Given the description of an element on the screen output the (x, y) to click on. 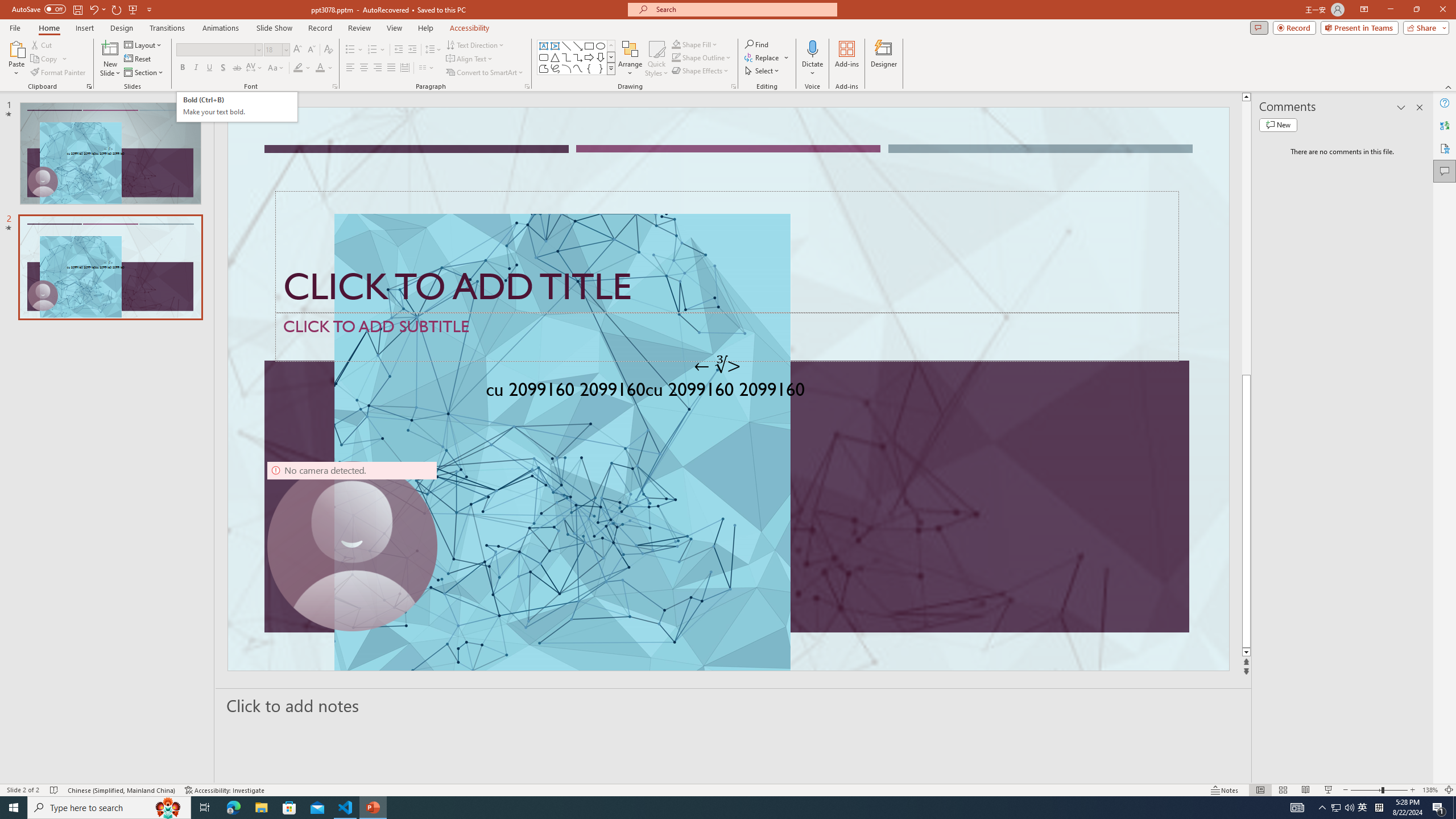
Columns (426, 67)
Minimize (237, 106)
Task Pane Options (1390, 9)
Italic (1400, 107)
